Given the description of an element on the screen output the (x, y) to click on. 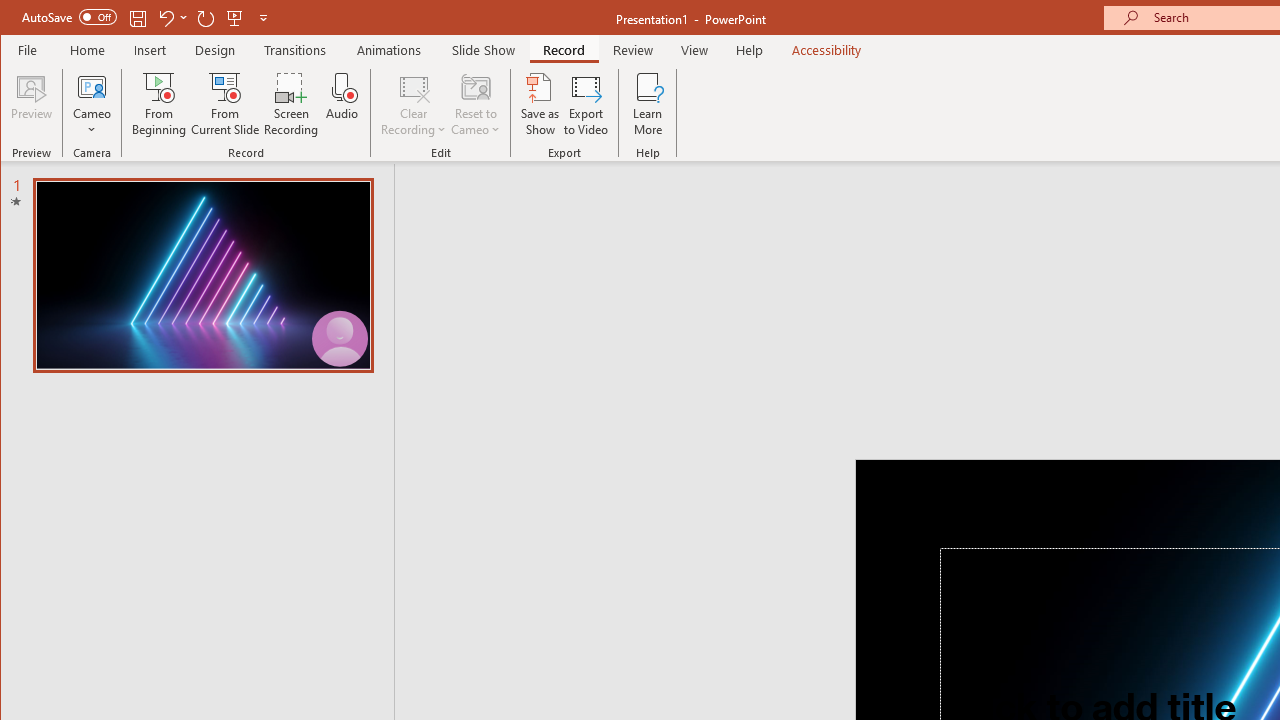
Export to Video (585, 104)
Screen Recording (291, 104)
